Given the description of an element on the screen output the (x, y) to click on. 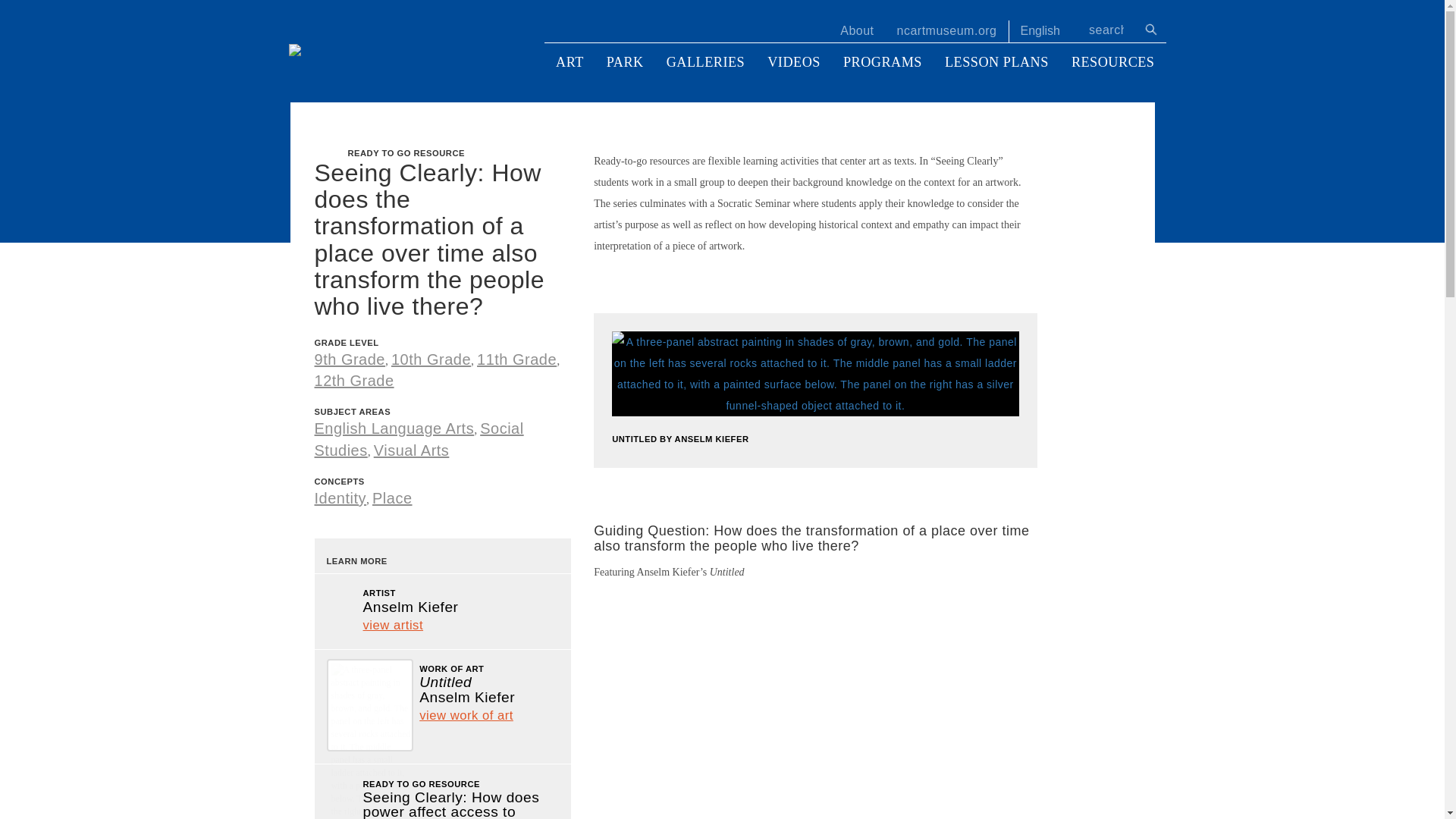
LESSON PLANS (996, 62)
GALLERIES (706, 62)
ART (569, 62)
VIDEOS (793, 62)
Go to home page. (396, 48)
PROGRAMS (882, 62)
PARK (625, 62)
